Given the description of an element on the screen output the (x, y) to click on. 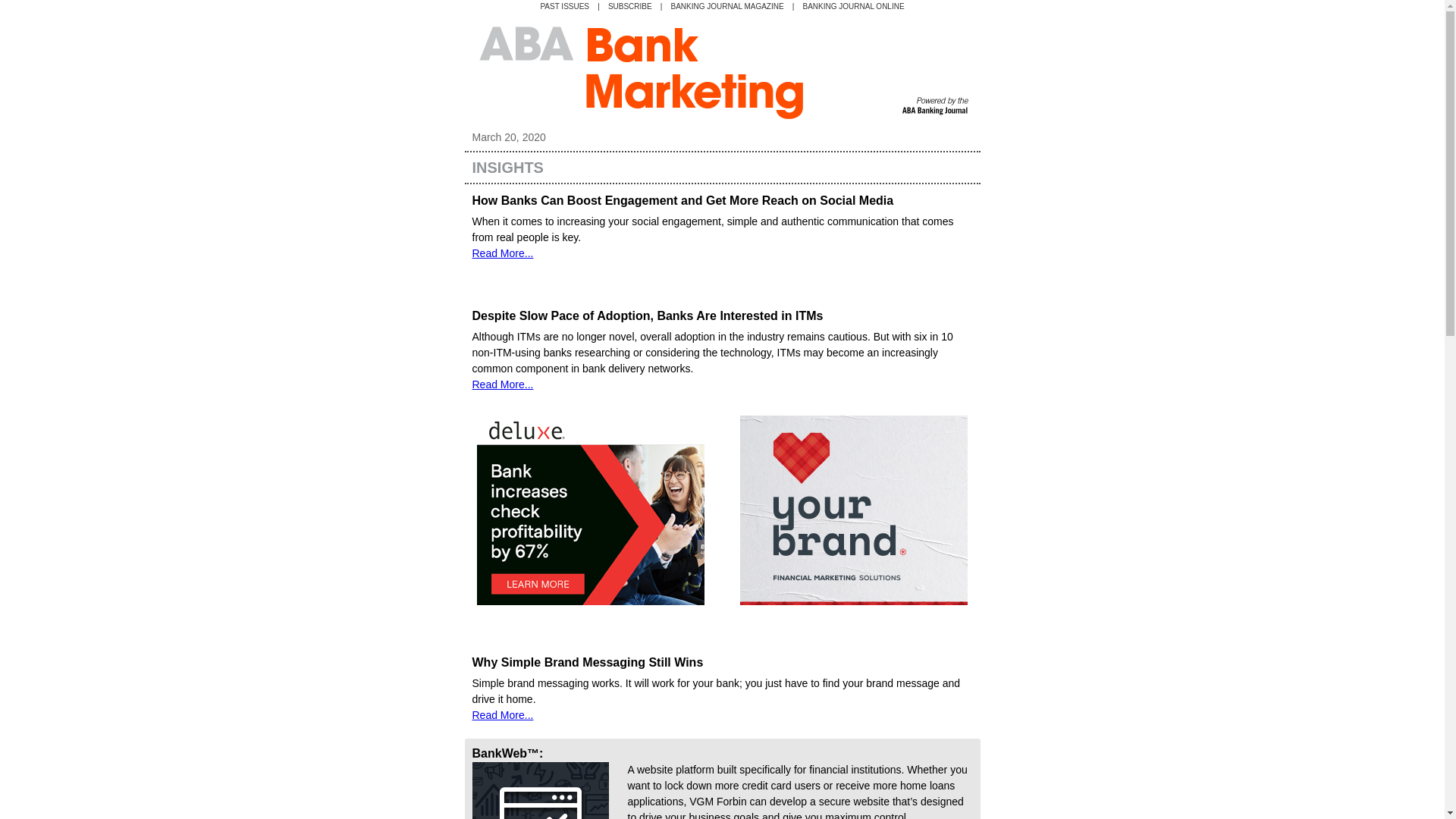
Why Simple Brand Messaging Still Wins (587, 662)
Past Issues (564, 6)
PAST ISSUES (564, 6)
Despite Slow Pace of Adoption, Banks Are Interested in ITMs (646, 315)
Banking Journal Online (853, 6)
Banking Journal Magazine (727, 6)
SUBSCRIBE (630, 6)
Subscribe (630, 6)
Read More... (501, 715)
